Given the description of an element on the screen output the (x, y) to click on. 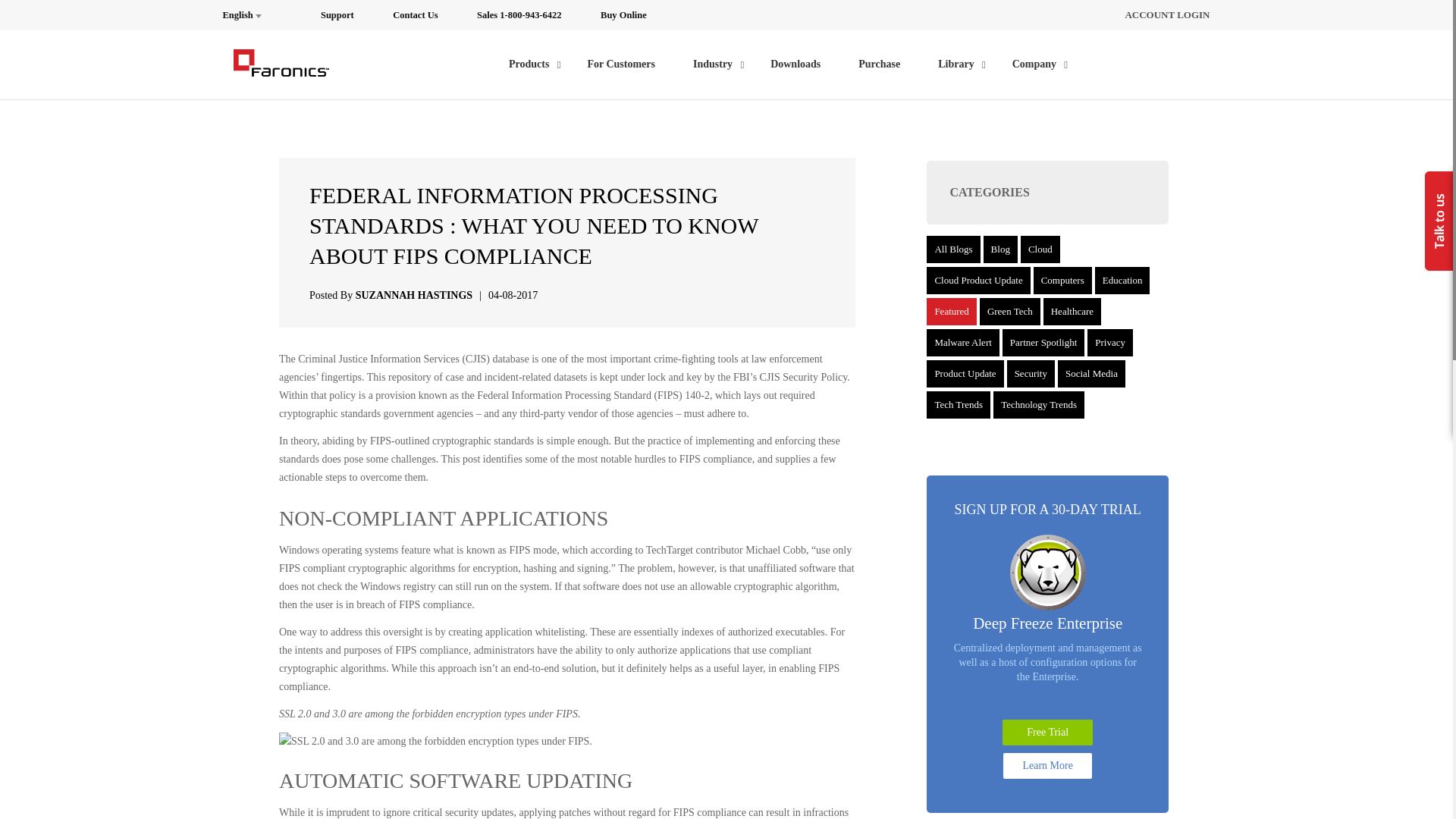
Change Language (251, 14)
